Given the description of an element on the screen output the (x, y) to click on. 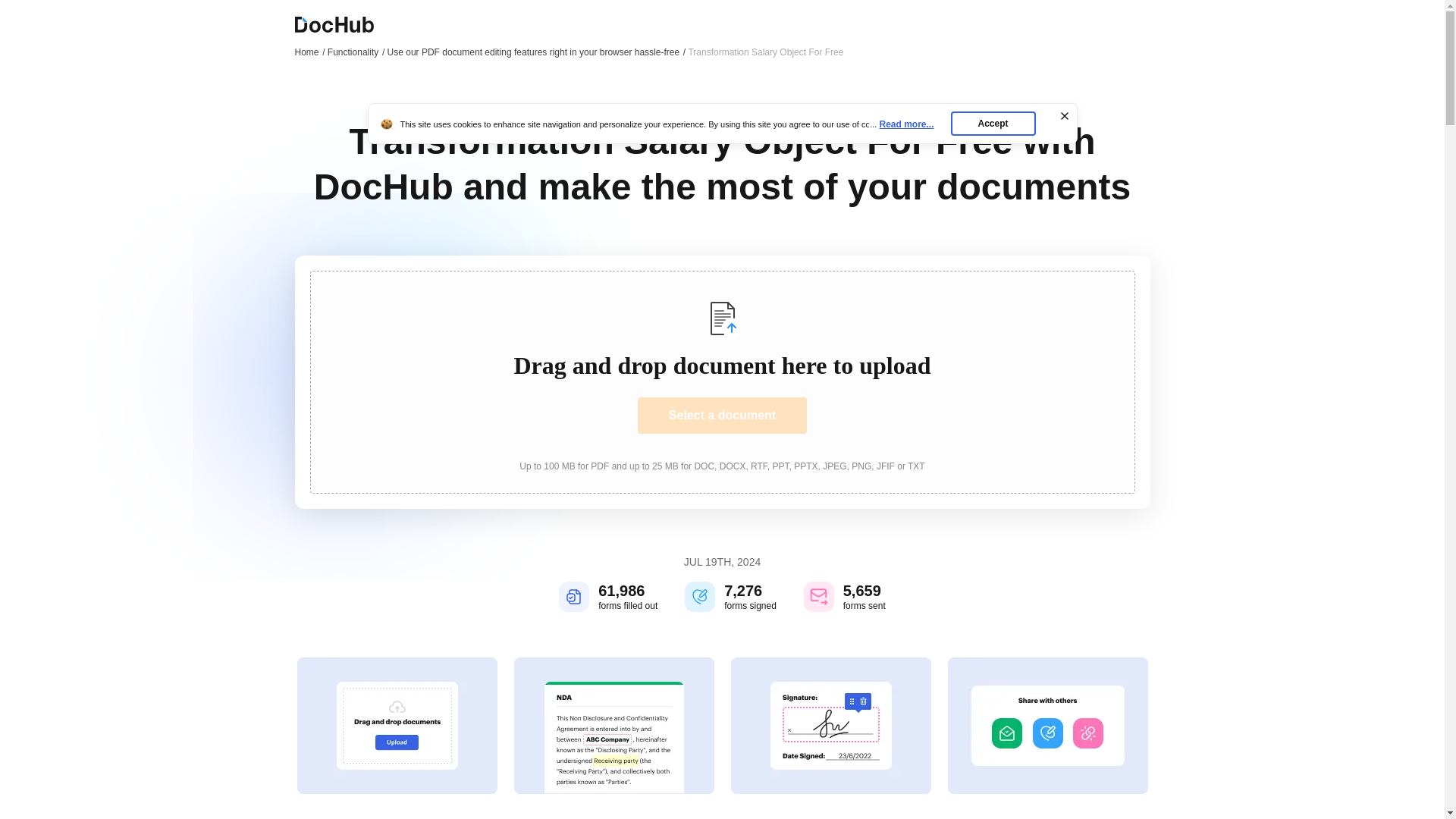
Select a document (721, 415)
Functionality (355, 51)
Home (309, 51)
